Given the description of an element on the screen output the (x, y) to click on. 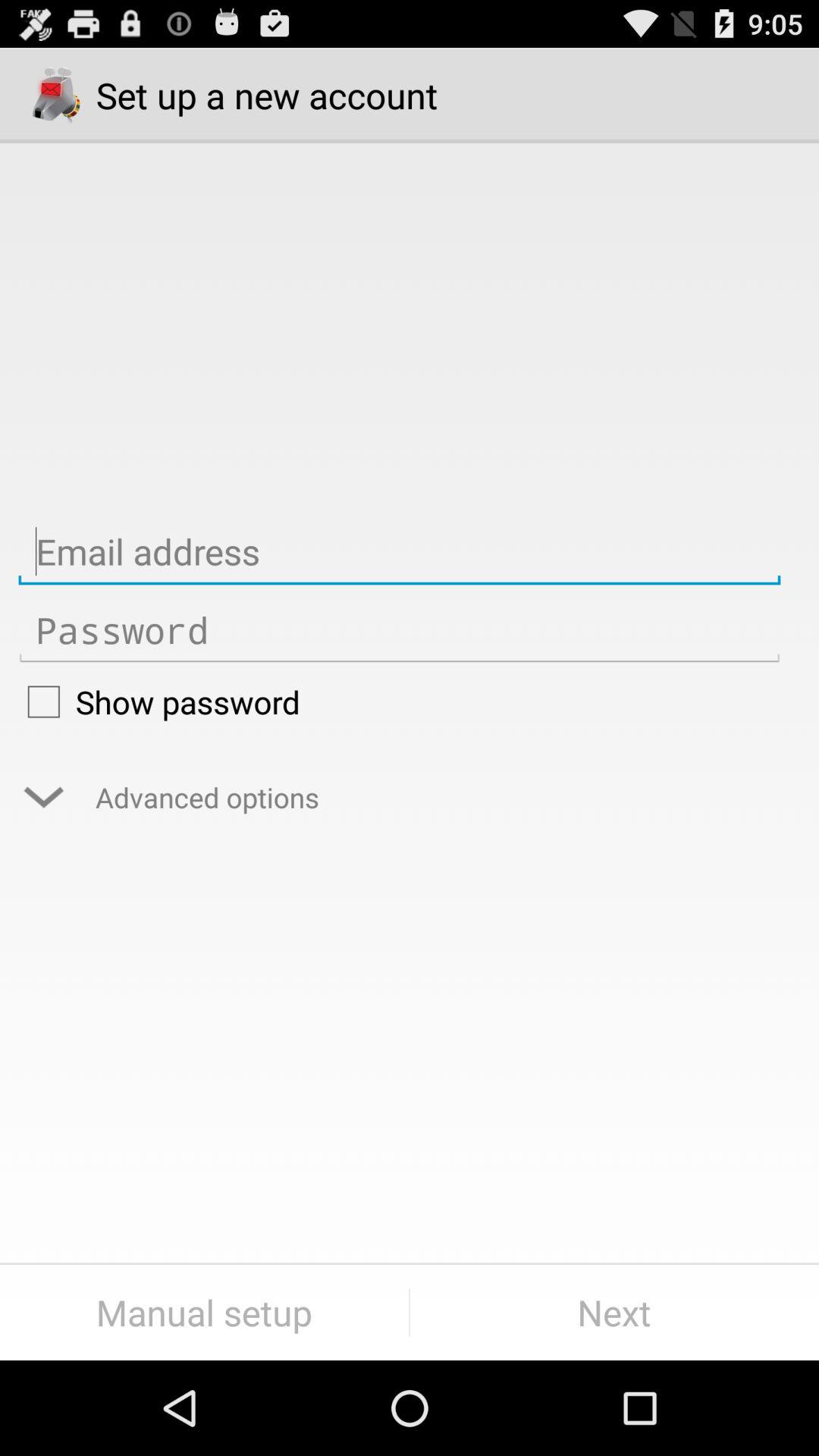
jump to the next (614, 1312)
